Given the description of an element on the screen output the (x, y) to click on. 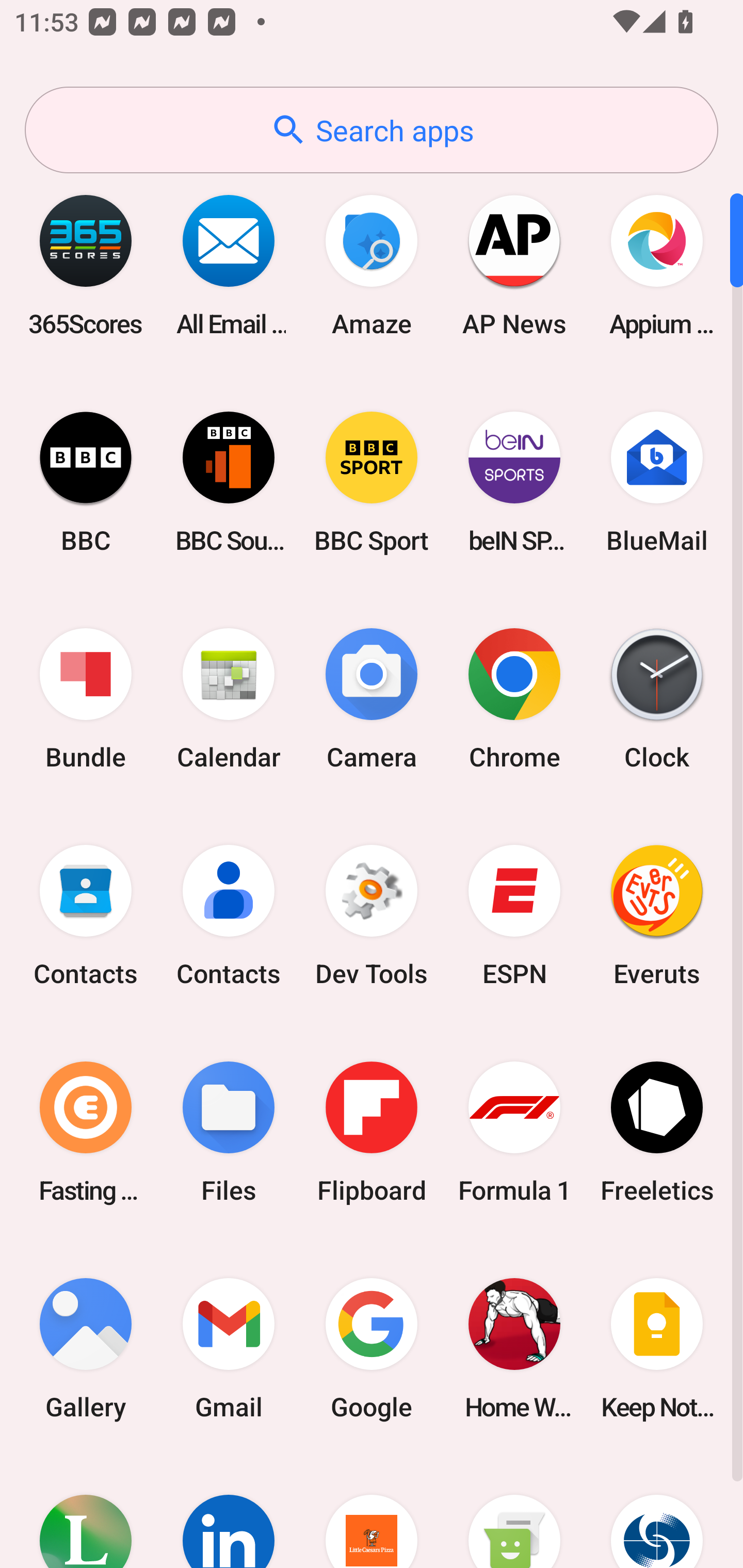
  Search apps (371, 130)
365Scores (85, 264)
All Email Connect (228, 264)
Amaze (371, 264)
AP News (514, 264)
Appium Settings (656, 264)
BBC (85, 482)
BBC Sounds (228, 482)
BBC Sport (371, 482)
beIN SPORTS (514, 482)
BlueMail (656, 482)
Bundle (85, 699)
Calendar (228, 699)
Camera (371, 699)
Chrome (514, 699)
Clock (656, 699)
Contacts (85, 915)
Contacts (228, 915)
Dev Tools (371, 915)
ESPN (514, 915)
Everuts (656, 915)
Fasting Coach (85, 1131)
Files (228, 1131)
Flipboard (371, 1131)
Formula 1 (514, 1131)
Freeletics (656, 1131)
Gallery (85, 1348)
Gmail (228, 1348)
Google (371, 1348)
Home Workout (514, 1348)
Keep Notes (656, 1348)
Lifesum (85, 1512)
LinkedIn (228, 1512)
Little Caesars Pizza (371, 1512)
Messaging (514, 1512)
MyObservatory (656, 1512)
